Given the description of an element on the screen output the (x, y) to click on. 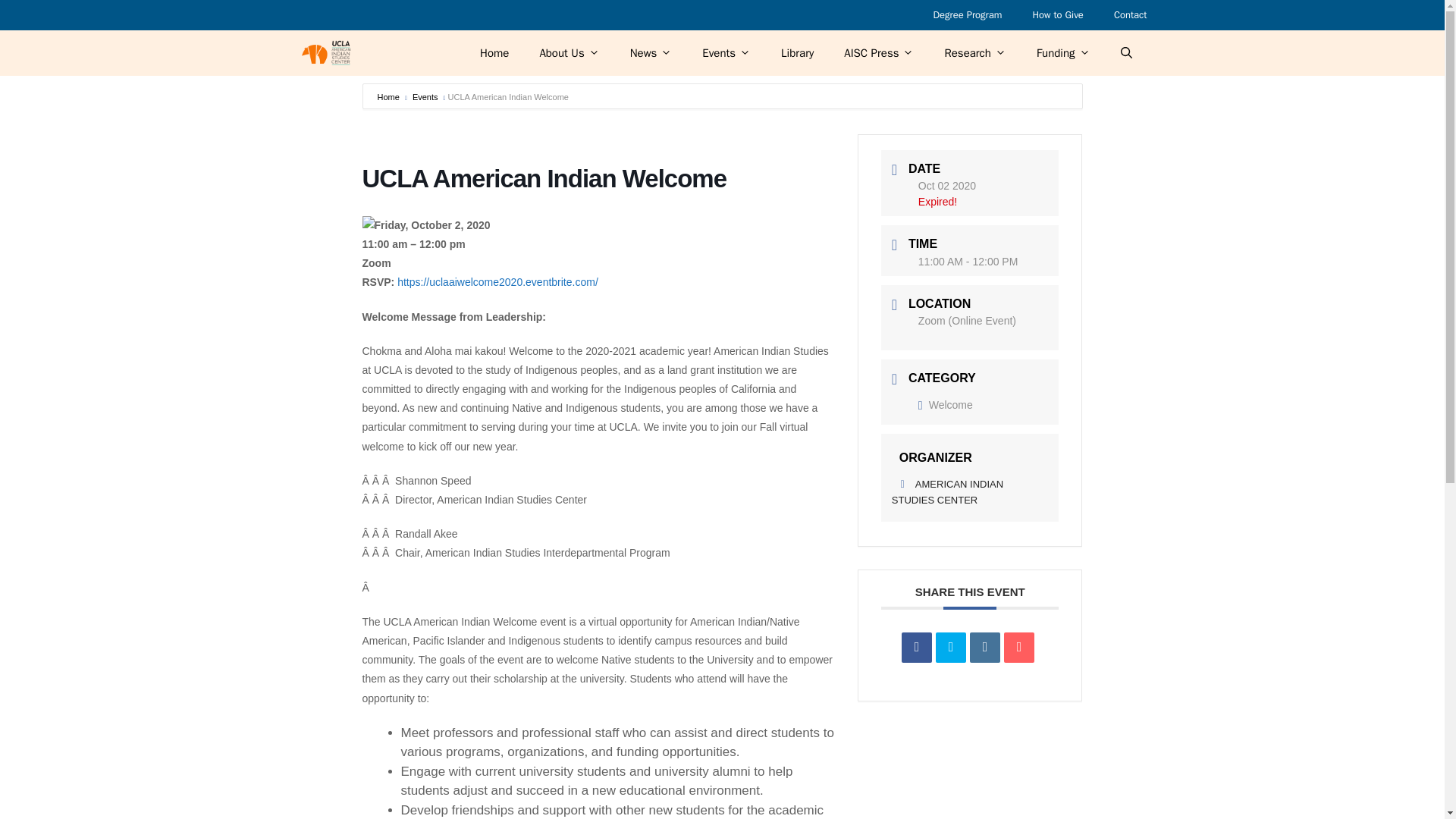
Home (494, 53)
About Us (569, 53)
UCLA American Indian Studies Center (325, 53)
How to Give (1057, 15)
Tweet (951, 647)
Degree Program (966, 15)
Contact (1130, 15)
Share on Facebook (916, 647)
Linkedin (984, 647)
Email (1018, 647)
